Given the description of an element on the screen output the (x, y) to click on. 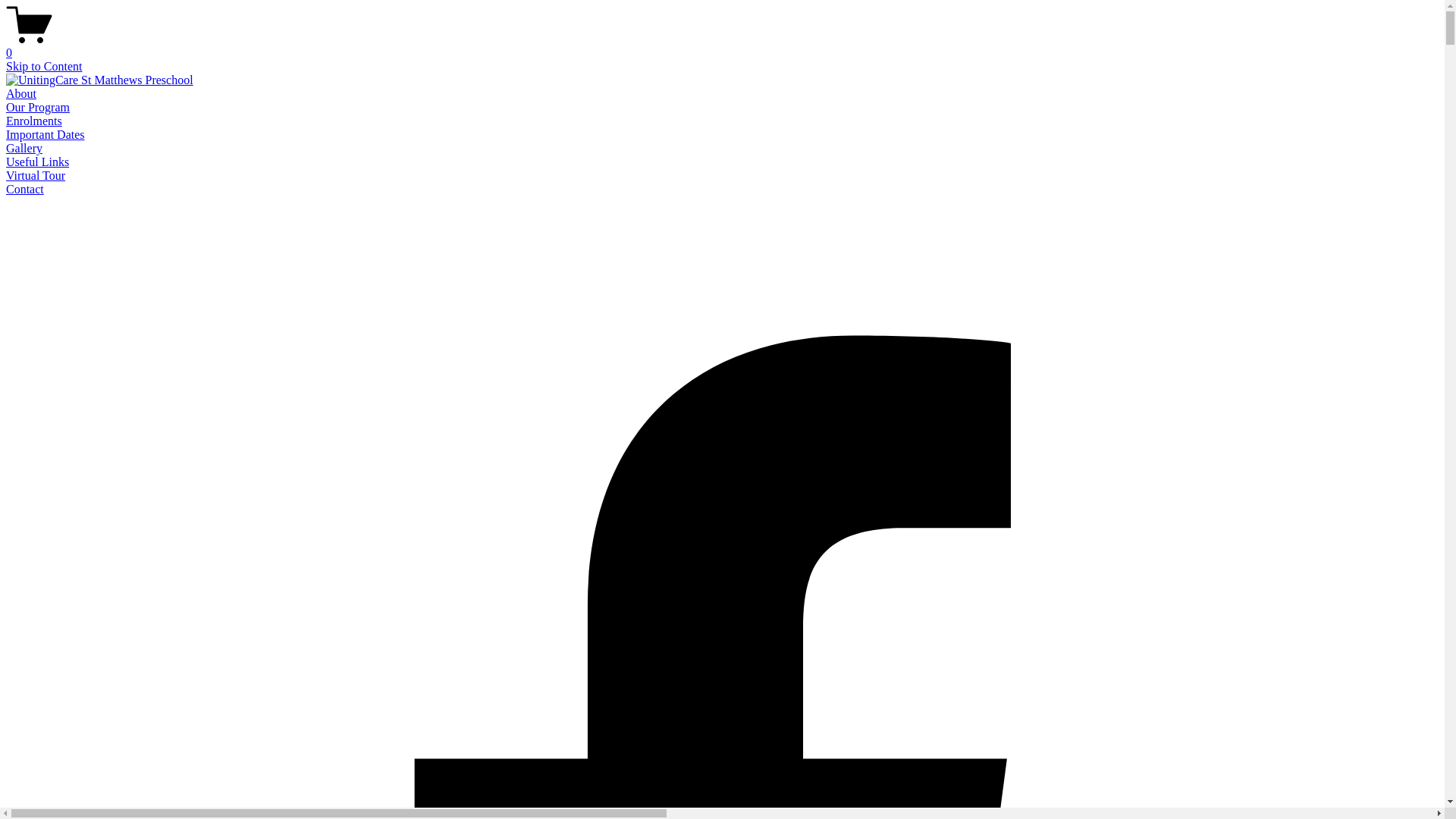
About Element type: text (21, 93)
0 Element type: text (722, 45)
Skip to Content Element type: text (43, 65)
Useful Links Element type: text (37, 161)
Enrolments Element type: text (34, 120)
Virtual Tour Element type: text (35, 175)
Our Program Element type: text (37, 106)
Gallery Element type: text (24, 147)
Important Dates Element type: text (45, 134)
Contact Element type: text (24, 188)
